Given the description of an element on the screen output the (x, y) to click on. 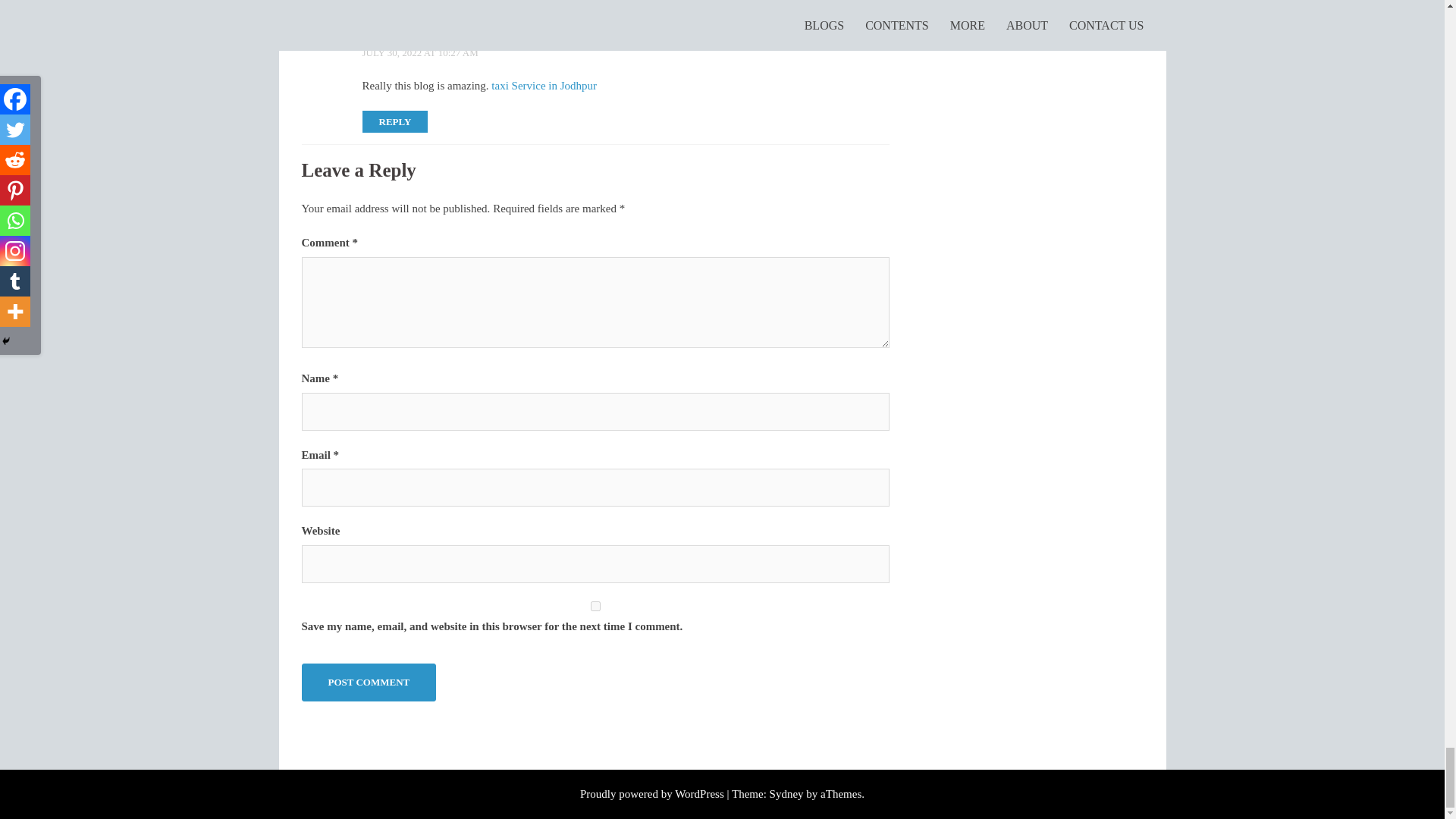
Post Comment (368, 682)
yes (595, 605)
